Given the description of an element on the screen output the (x, y) to click on. 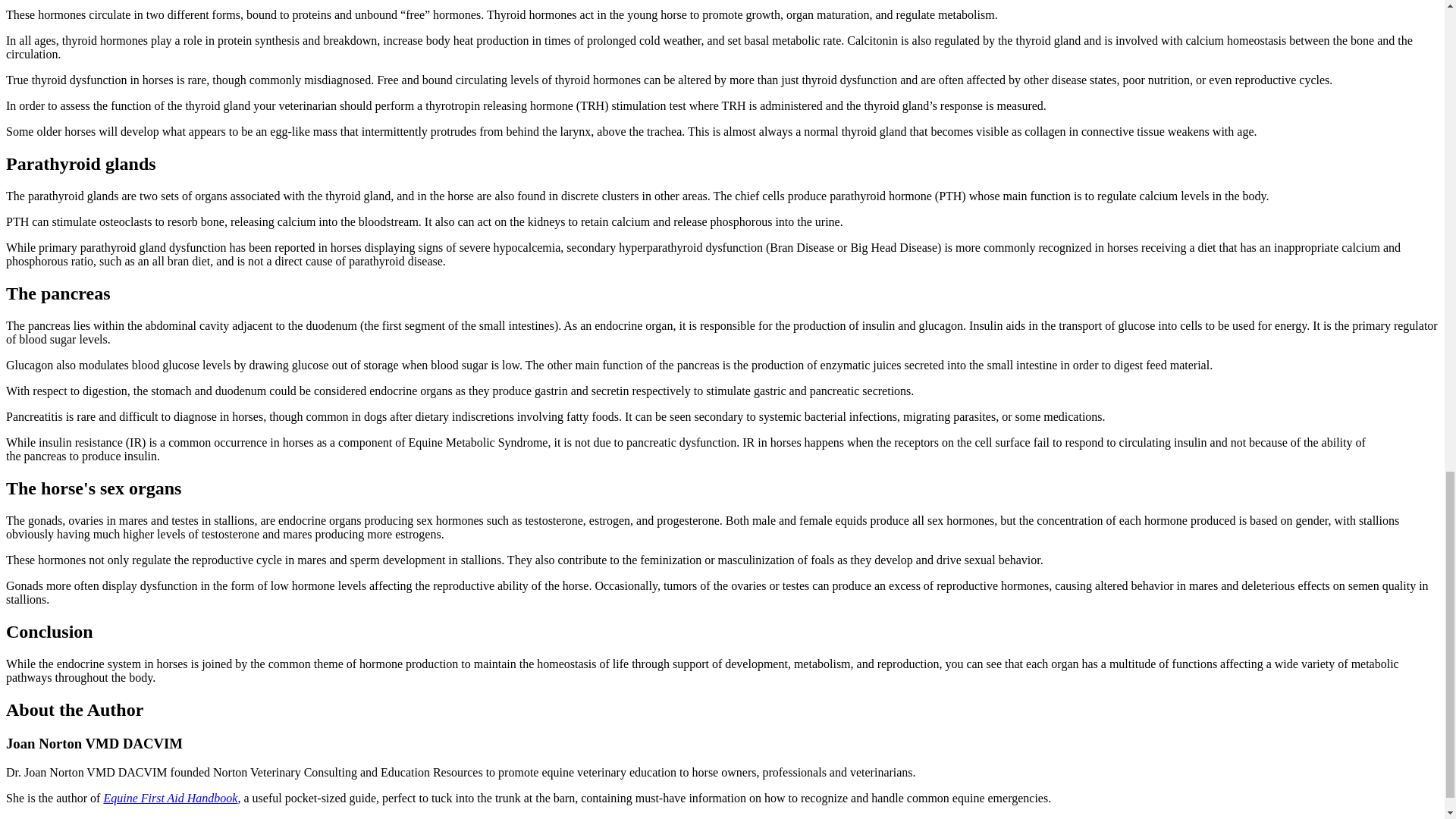
Equine First Aid Handbook (170, 797)
